Given the description of an element on the screen output the (x, y) to click on. 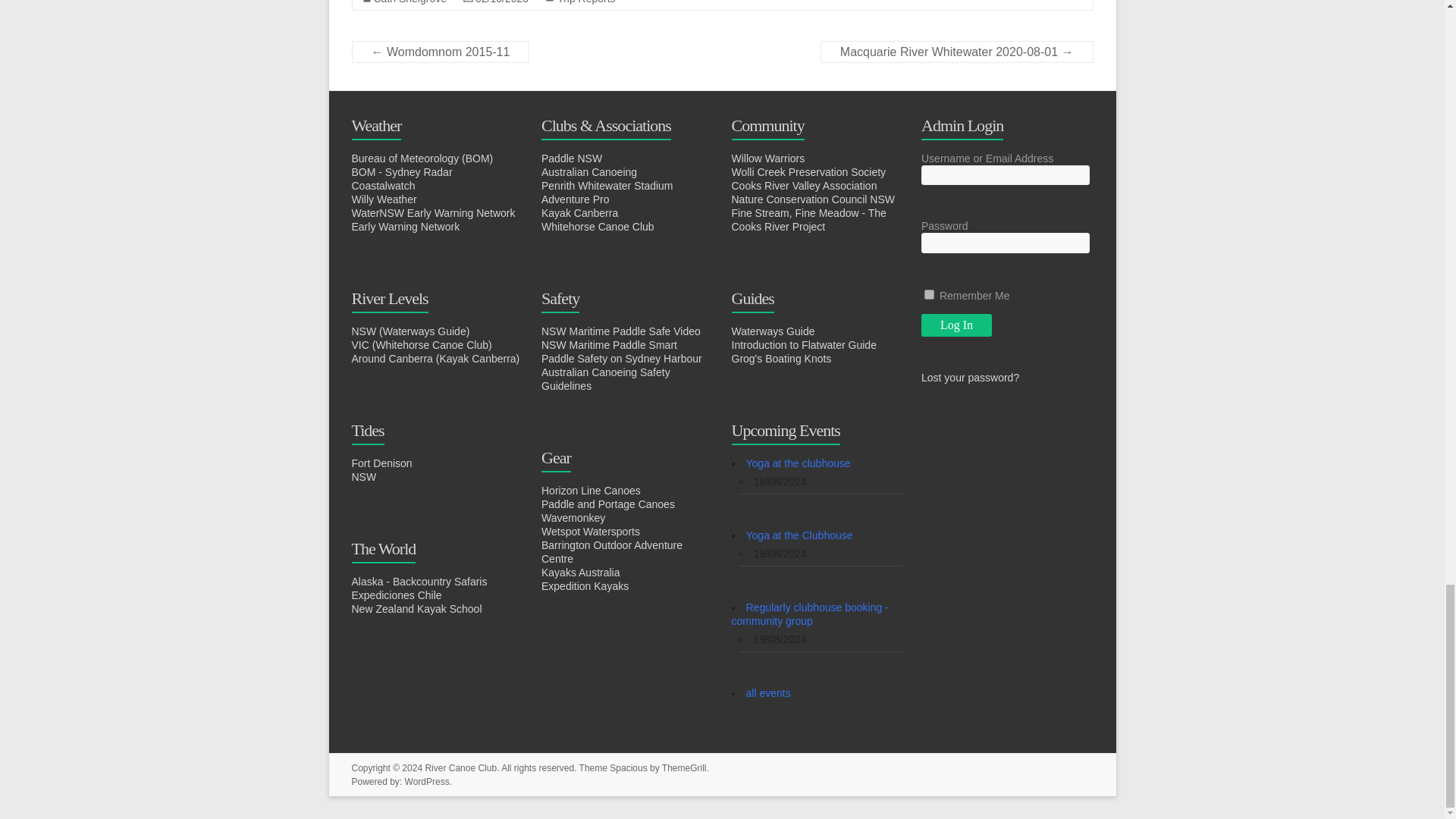
Trip Reports (586, 2)
Willy Weather (384, 199)
BOM - Sydney Radar (402, 172)
Early Warning Network (406, 226)
forever (929, 294)
Log In (956, 324)
WaterNSW Early Warning Network (433, 213)
10:40 pm (502, 2)
Coastalwatch (383, 185)
Cath Snelgrove (409, 2)
